Given the description of an element on the screen output the (x, y) to click on. 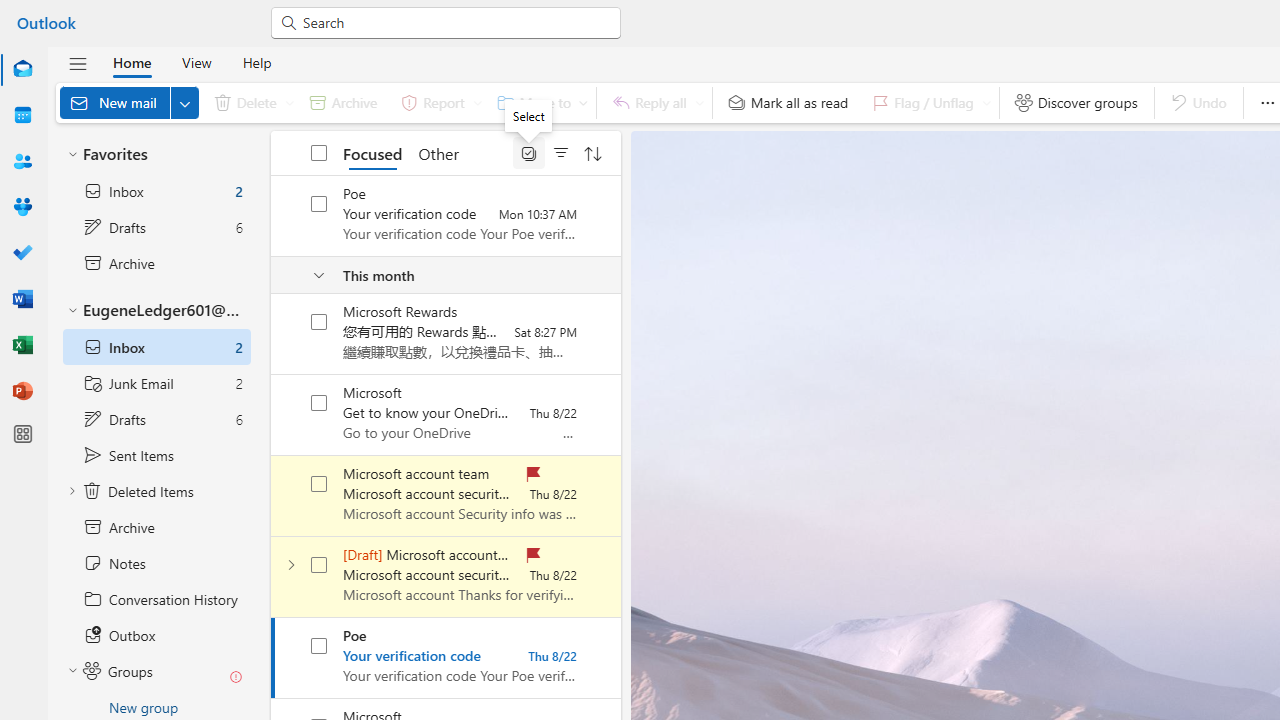
AutomationID: checkbox-182 (319, 646)
Discover groups (1076, 102)
Flag / Unflag (927, 102)
AutomationID: checkbox-134 (319, 483)
Expand to see more report options (477, 102)
Calendar (22, 115)
People (22, 161)
View (196, 61)
Select all messages (319, 152)
People (22, 161)
Mark all as read (788, 102)
Expand to see flag options (985, 102)
Home (132, 61)
